Given the description of an element on the screen output the (x, y) to click on. 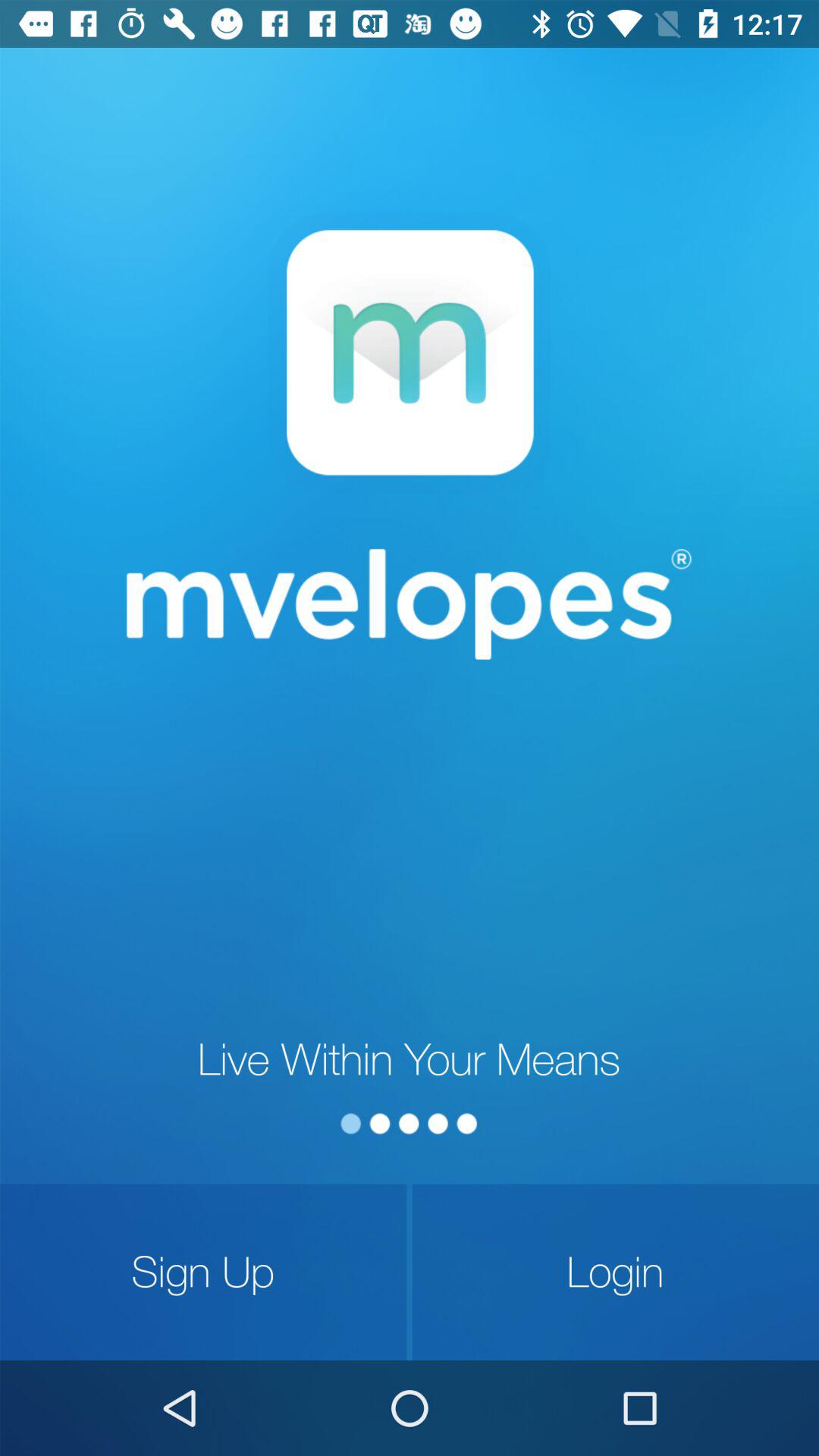
turn off the sign up item (203, 1272)
